Given the description of an element on the screen output the (x, y) to click on. 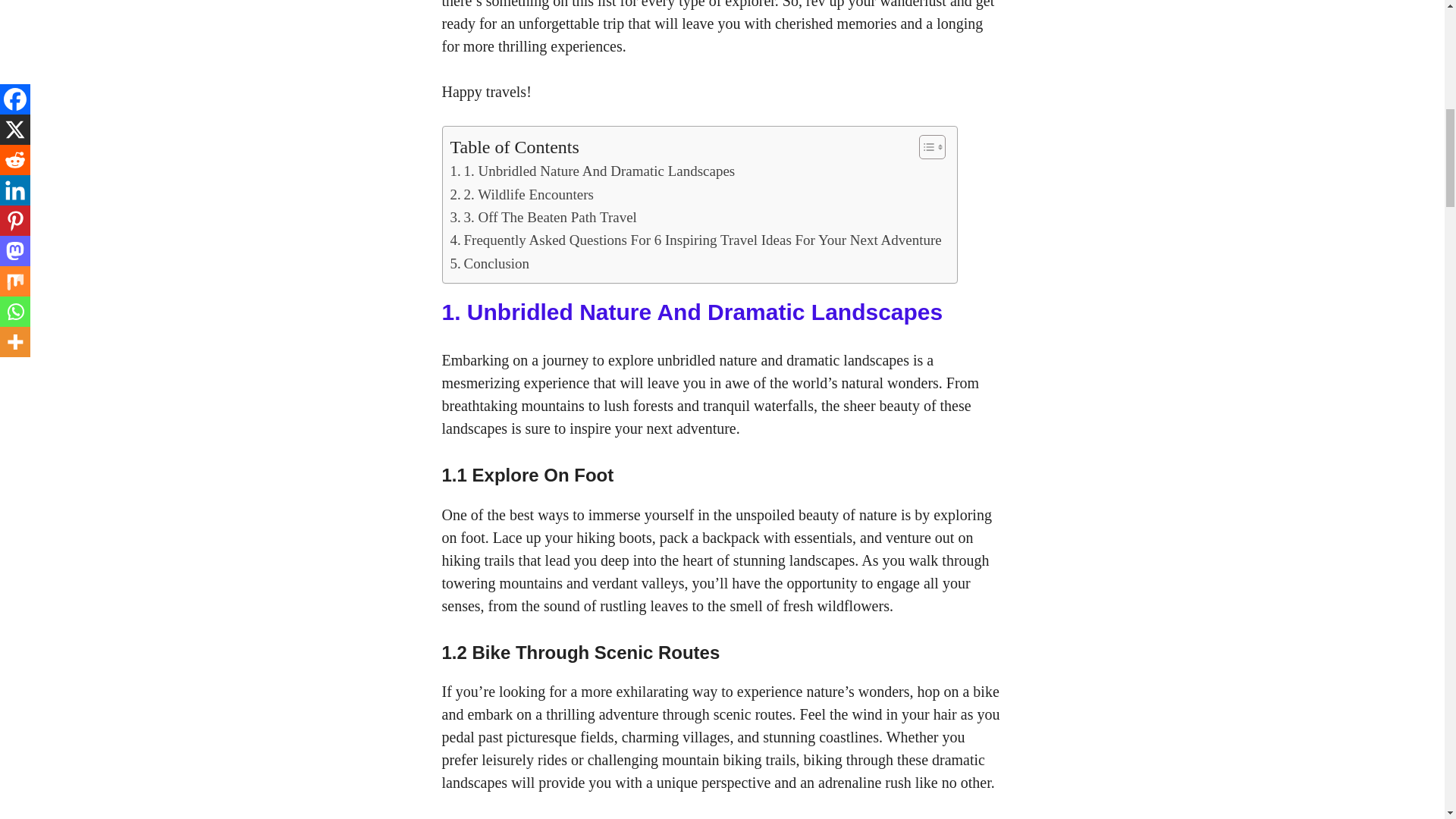
2. Wildlife Encounters (521, 194)
Conclusion (489, 263)
1. Unbridled Nature And Dramatic Landscapes (592, 170)
1. Unbridled Nature And Dramatic Landscapes (592, 170)
3. Off The Beaten Path Travel (543, 217)
2. Wildlife Encounters (521, 194)
Conclusion (489, 263)
3. Off The Beaten Path Travel (543, 217)
